Given the description of an element on the screen output the (x, y) to click on. 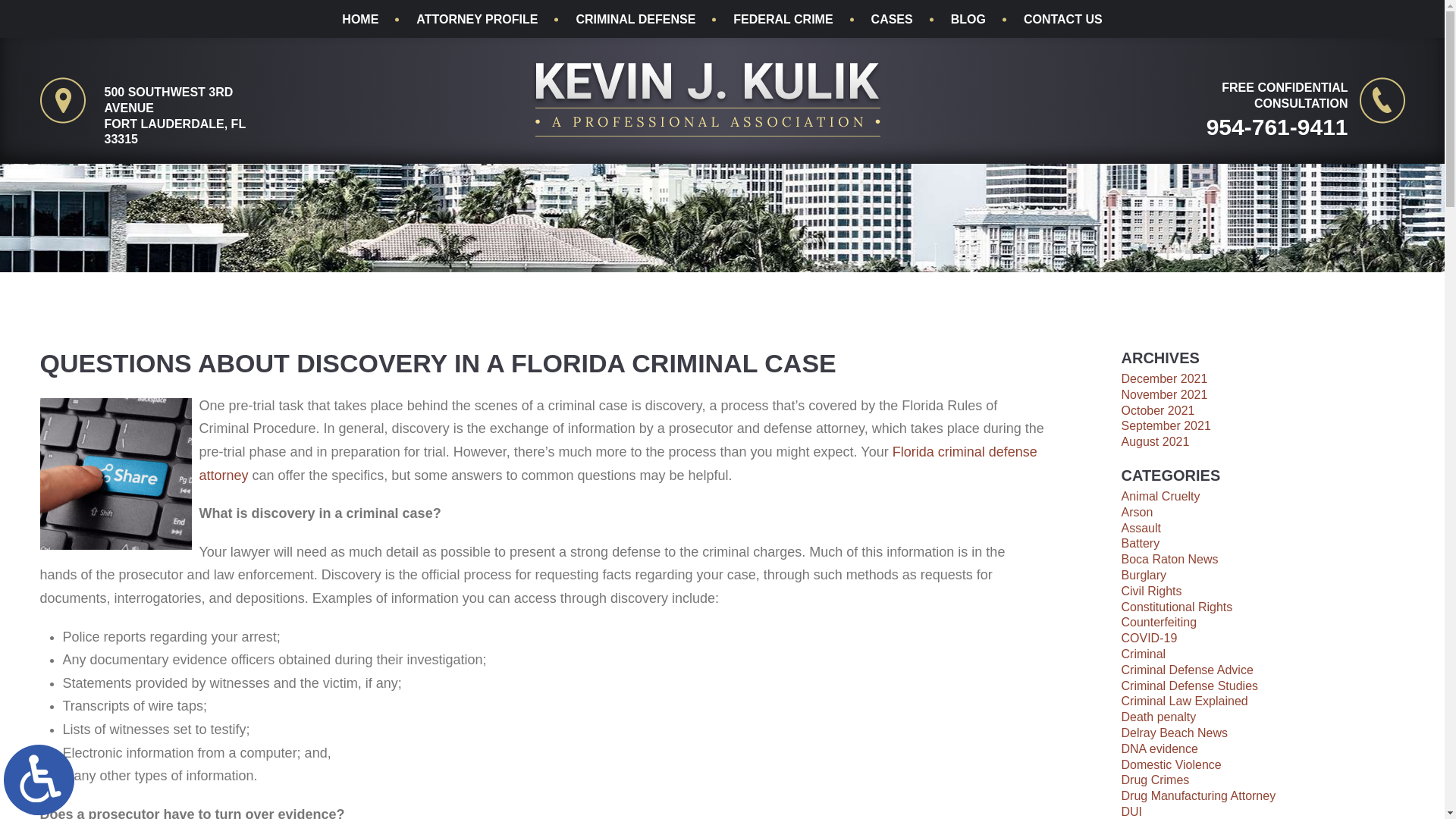
Criminal Defense Studies (1189, 685)
October 2021 (1157, 410)
Share (114, 473)
Burglary (1143, 574)
CRIMINAL DEFENSE (635, 19)
Criminal (1143, 653)
Animal Cruelty (1160, 495)
Constitutional Rights (1176, 606)
Battery (1139, 543)
Arson (1137, 512)
Criminal Defense Advice (1186, 669)
November 2021 (1164, 394)
CASES (891, 19)
HOME (360, 19)
954-761-9411 (1241, 126)
